Given the description of an element on the screen output the (x, y) to click on. 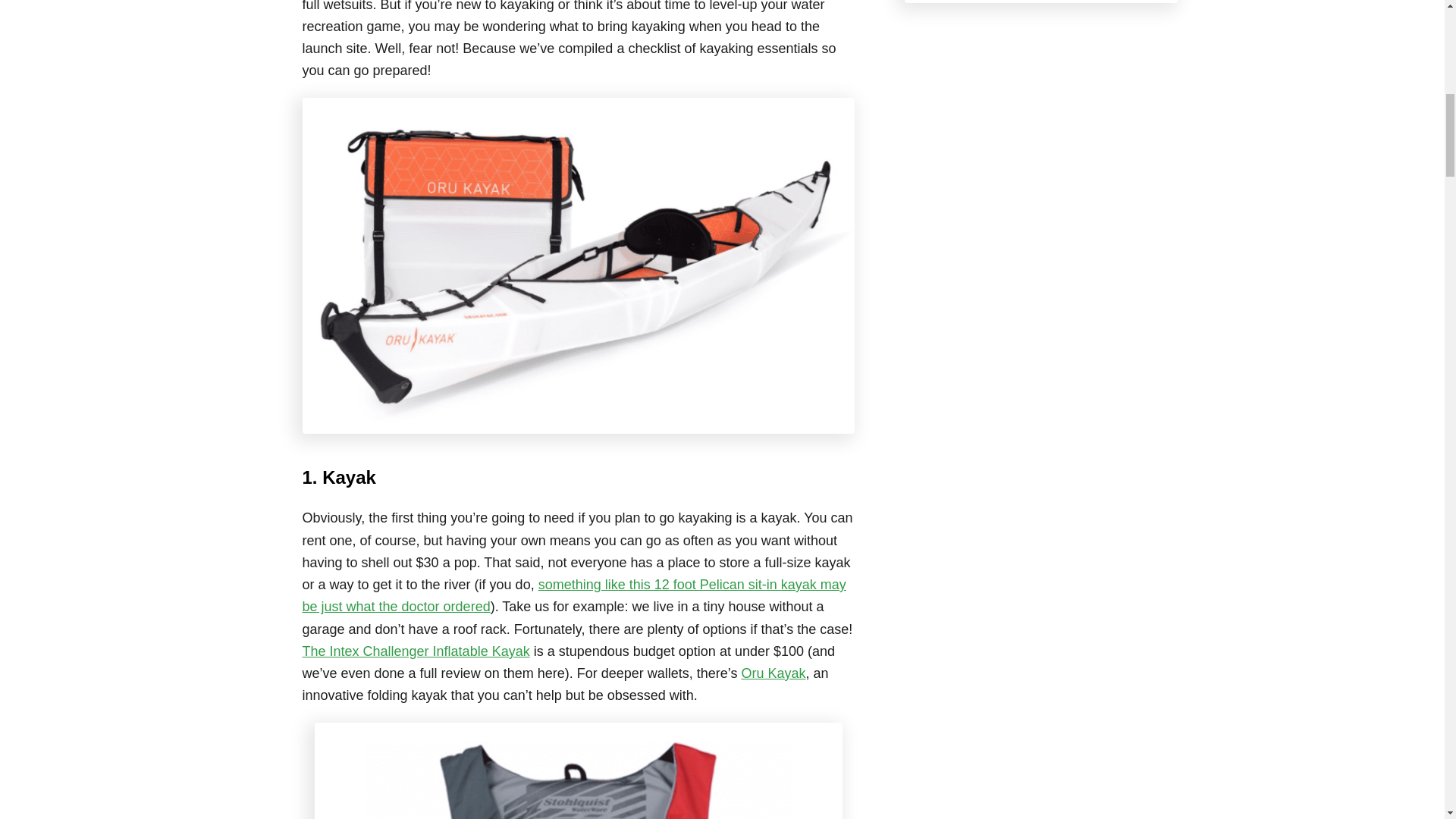
The Intex Challenger Inflatable Kayak (415, 651)
Oru Kayak (773, 672)
